Given the description of an element on the screen output the (x, y) to click on. 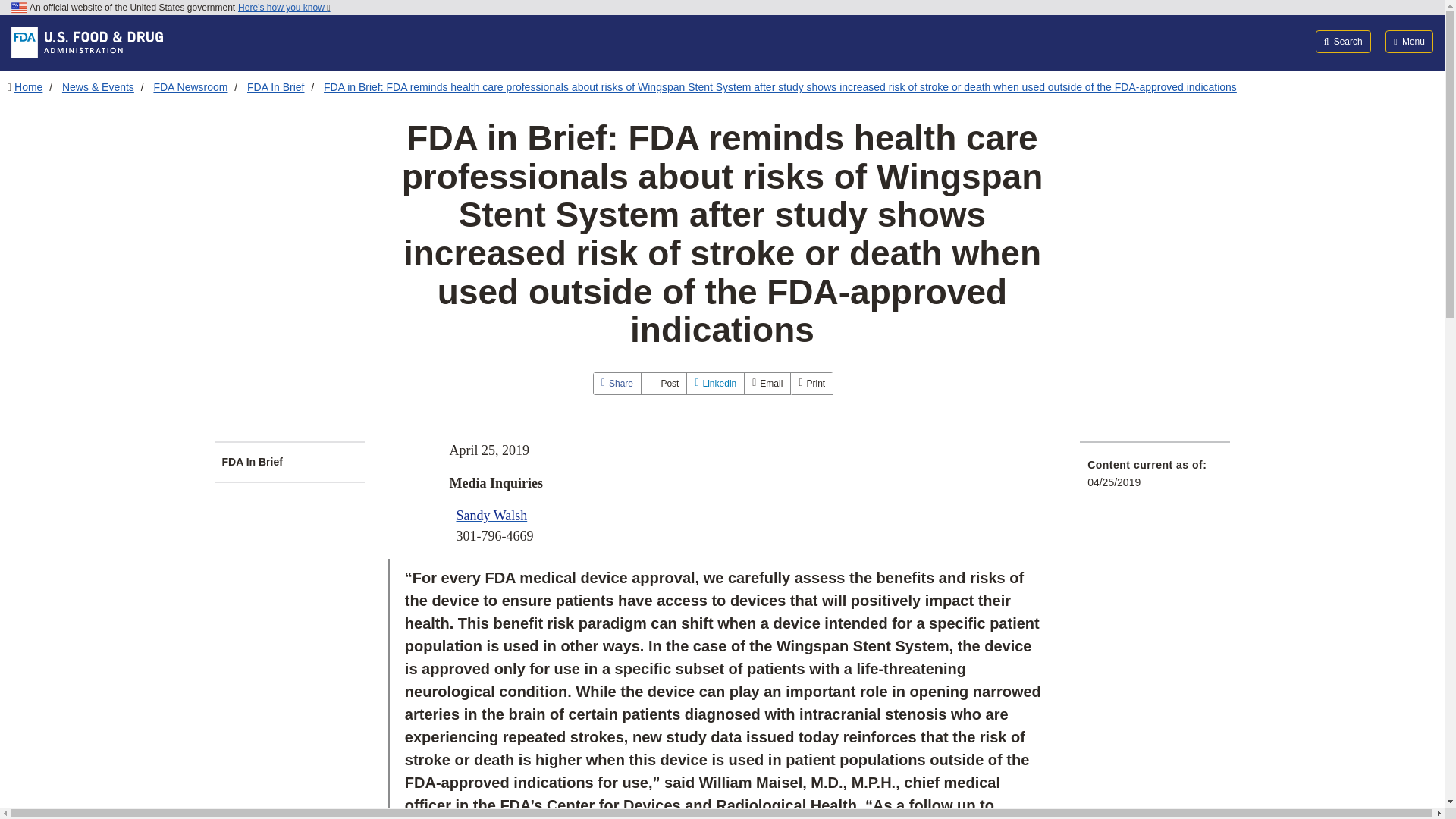
  Search (1343, 41)
Print this page (811, 383)
  Menu (1409, 41)
